Given the description of an element on the screen output the (x, y) to click on. 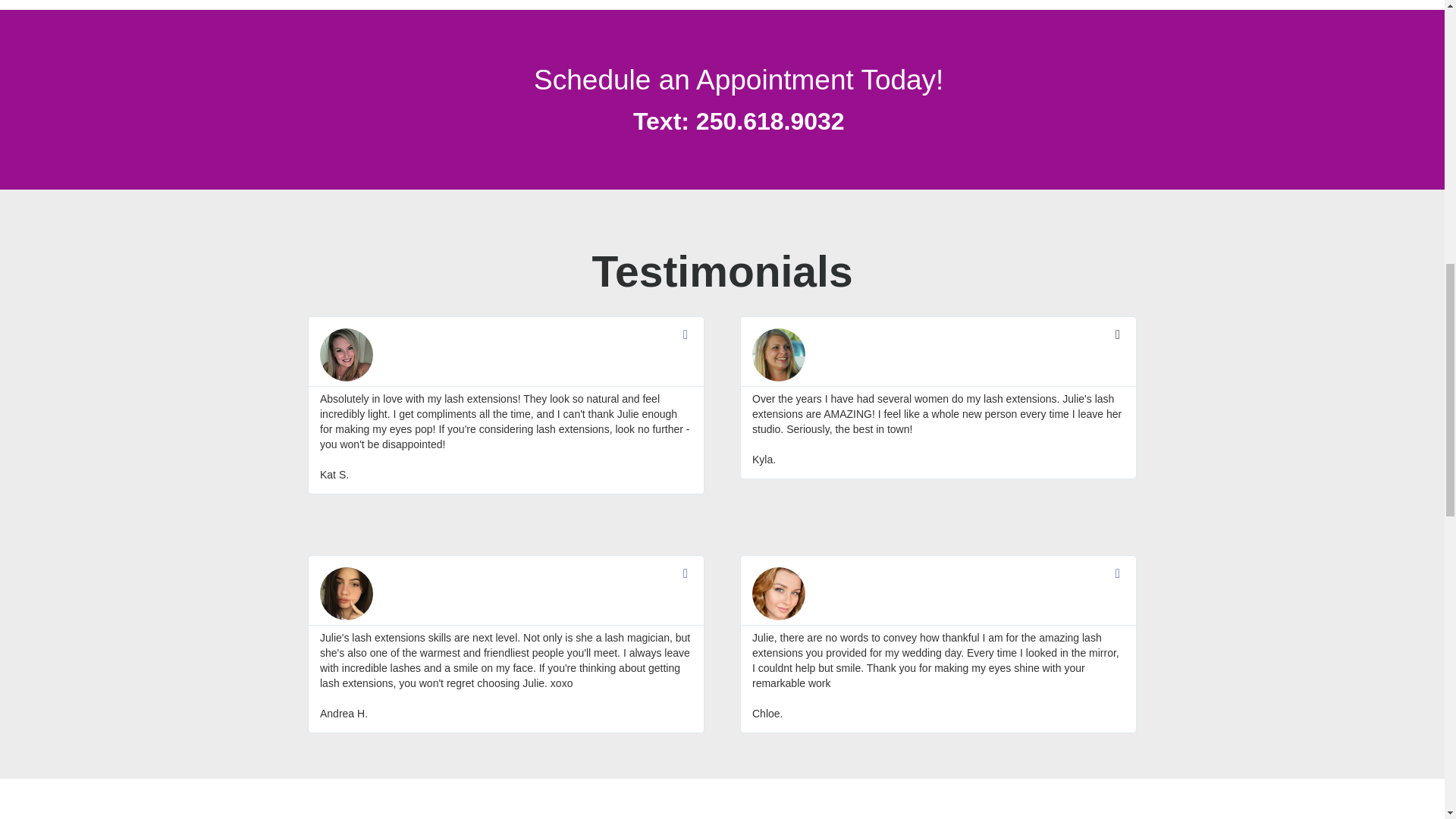
Text: 250.618.9032 (738, 121)
